Given the description of an element on the screen output the (x, y) to click on. 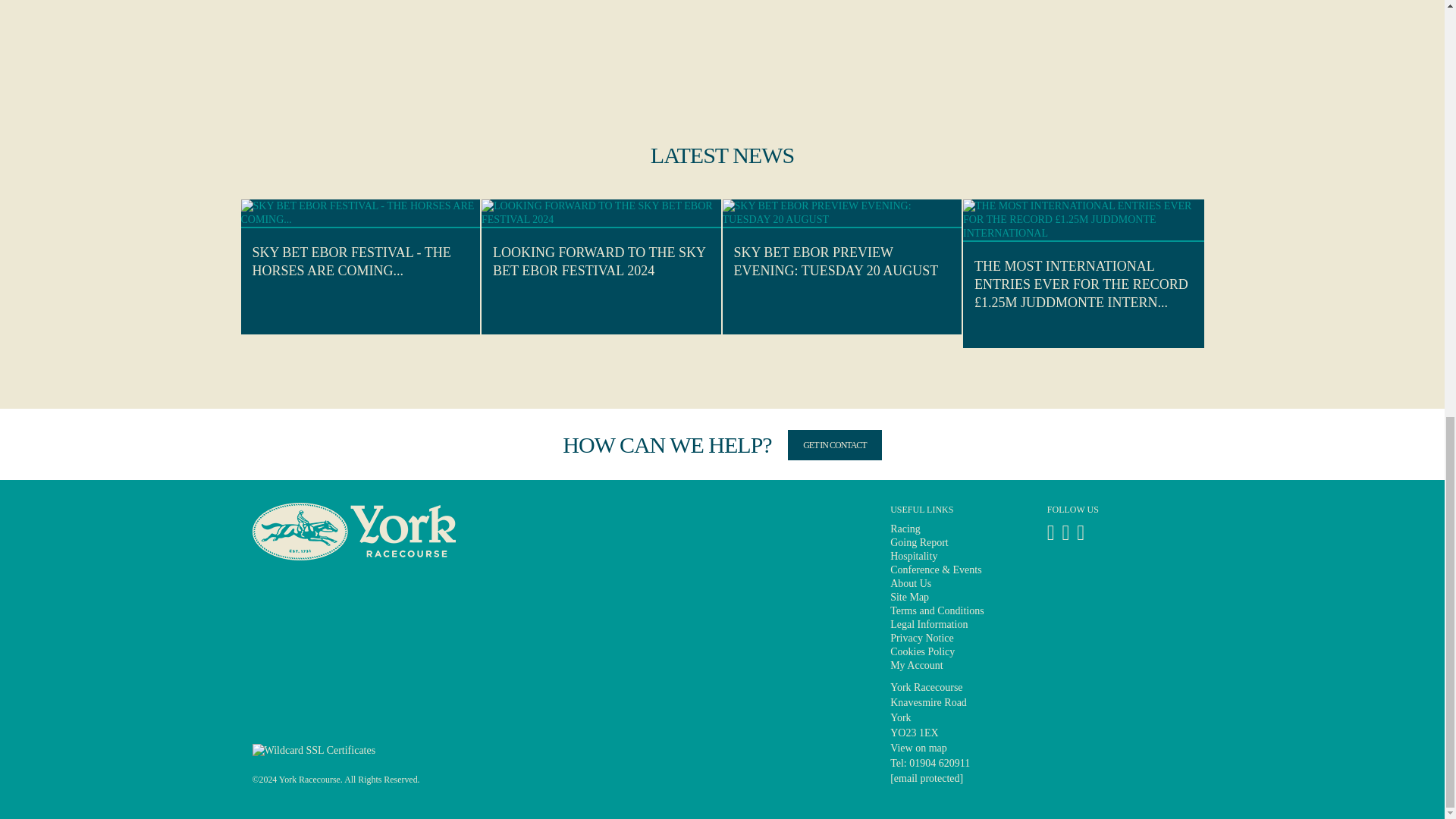
SSL Certificate (313, 750)
SSL Certificates (313, 749)
